Given the description of an element on the screen output the (x, y) to click on. 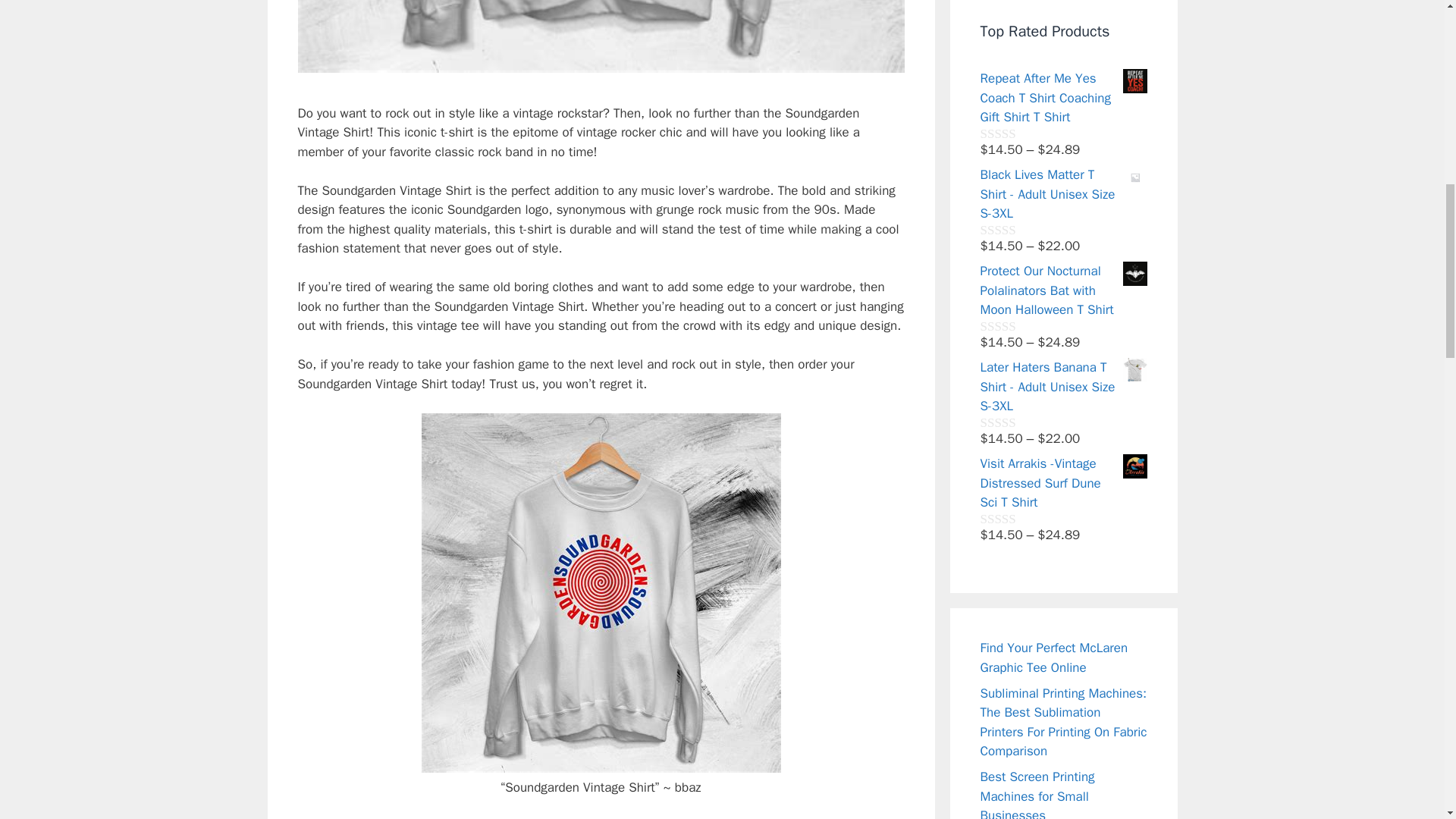
Black Lives Matter T Shirt - Adult Unisex Size S-3XL (1063, 194)
Best Screen Printing Machines for Small Businesses (1036, 794)
Not yet rated (1014, 326)
Not yet rated (1014, 421)
Not yet rated (1014, 228)
Later Haters Banana T Shirt - Adult Unisex Size S-3XL (1063, 386)
Not yet rated (1014, 133)
Find Your Perfect McLaren Graphic Tee Online (1052, 657)
